Given the description of an element on the screen output the (x, y) to click on. 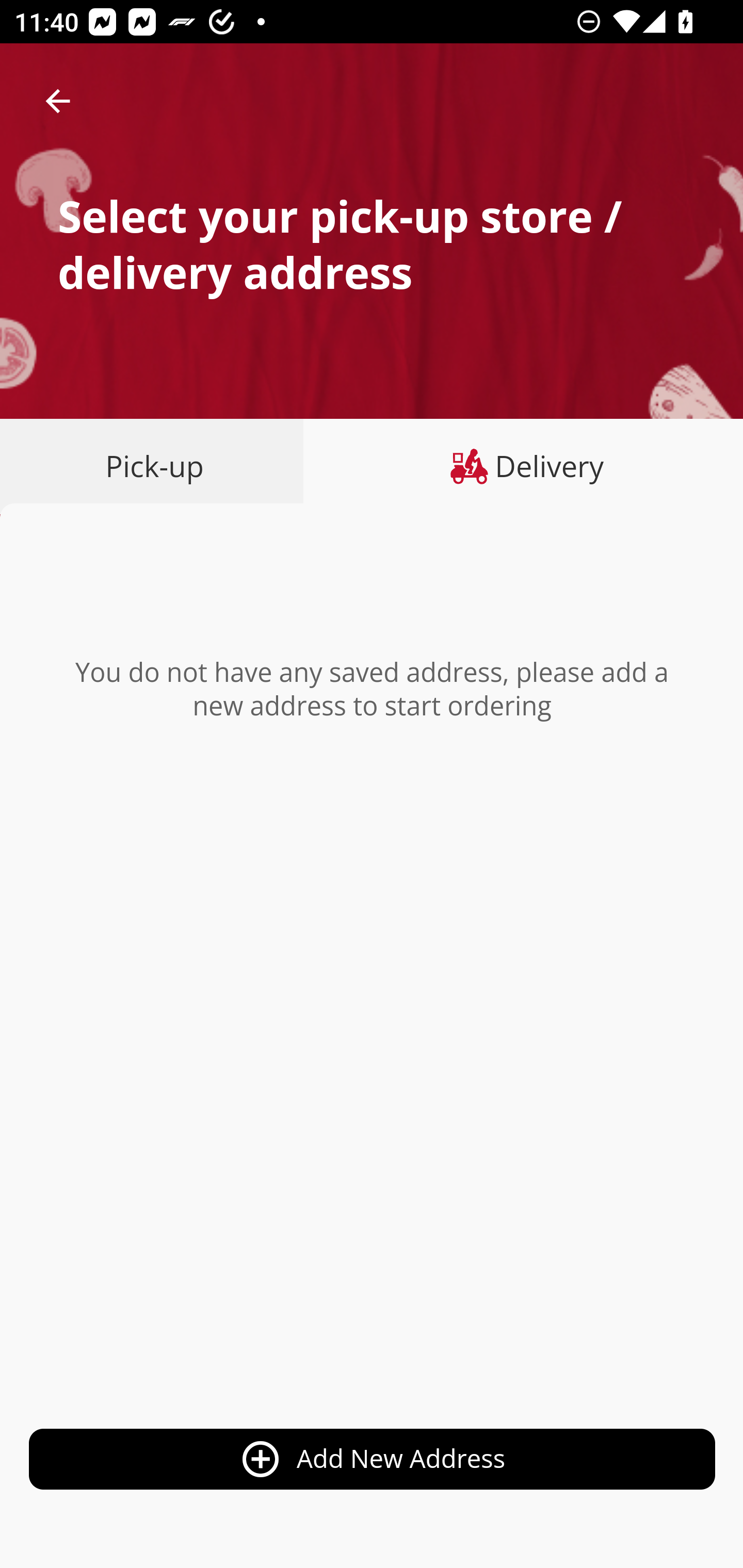
arrow_back (58, 100)
Pick-up (157, 466)
Delivery (523, 466)
add_circle_outline Add New Address (372, 1459)
